Given the description of an element on the screen output the (x, y) to click on. 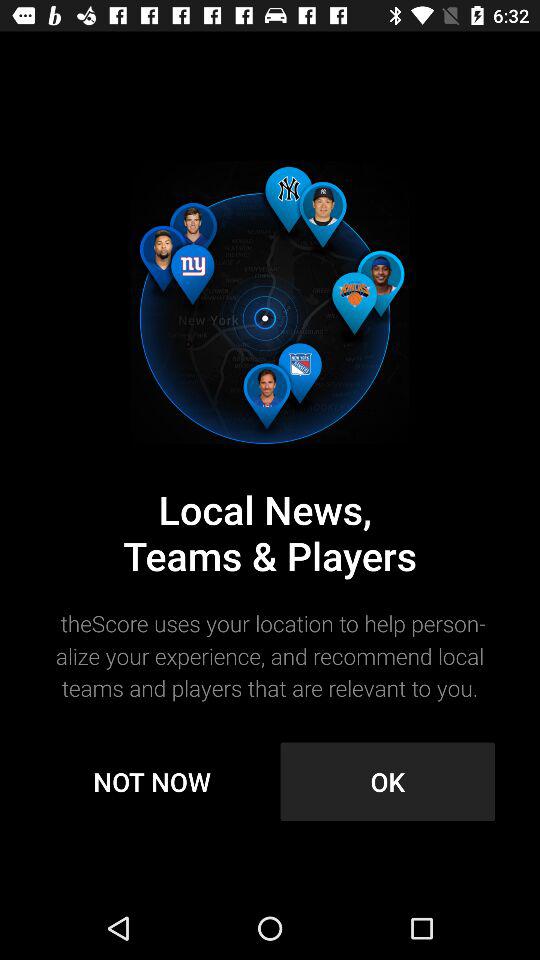
select item below thescore uses your item (387, 781)
